Given the description of an element on the screen output the (x, y) to click on. 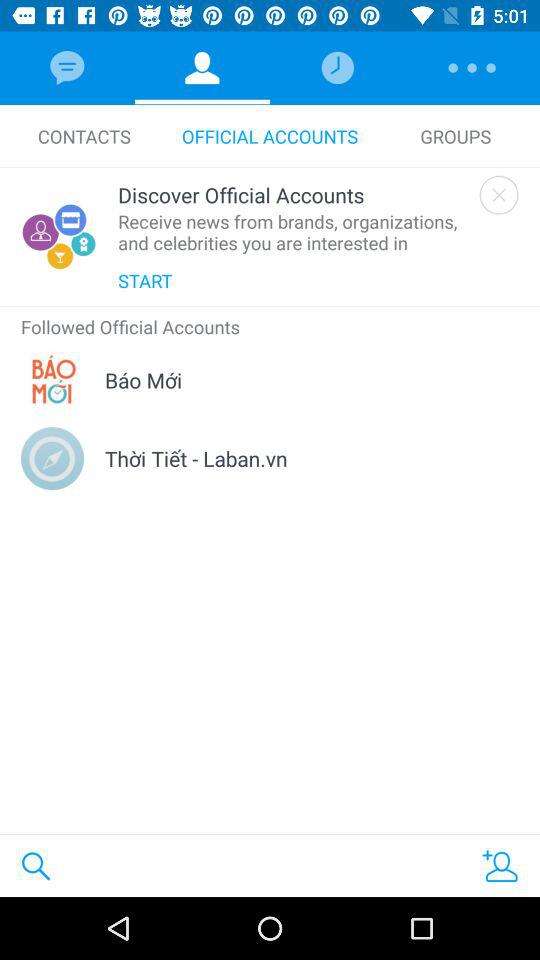
click item to the left of the official accounts item (84, 136)
